Given the description of an element on the screen output the (x, y) to click on. 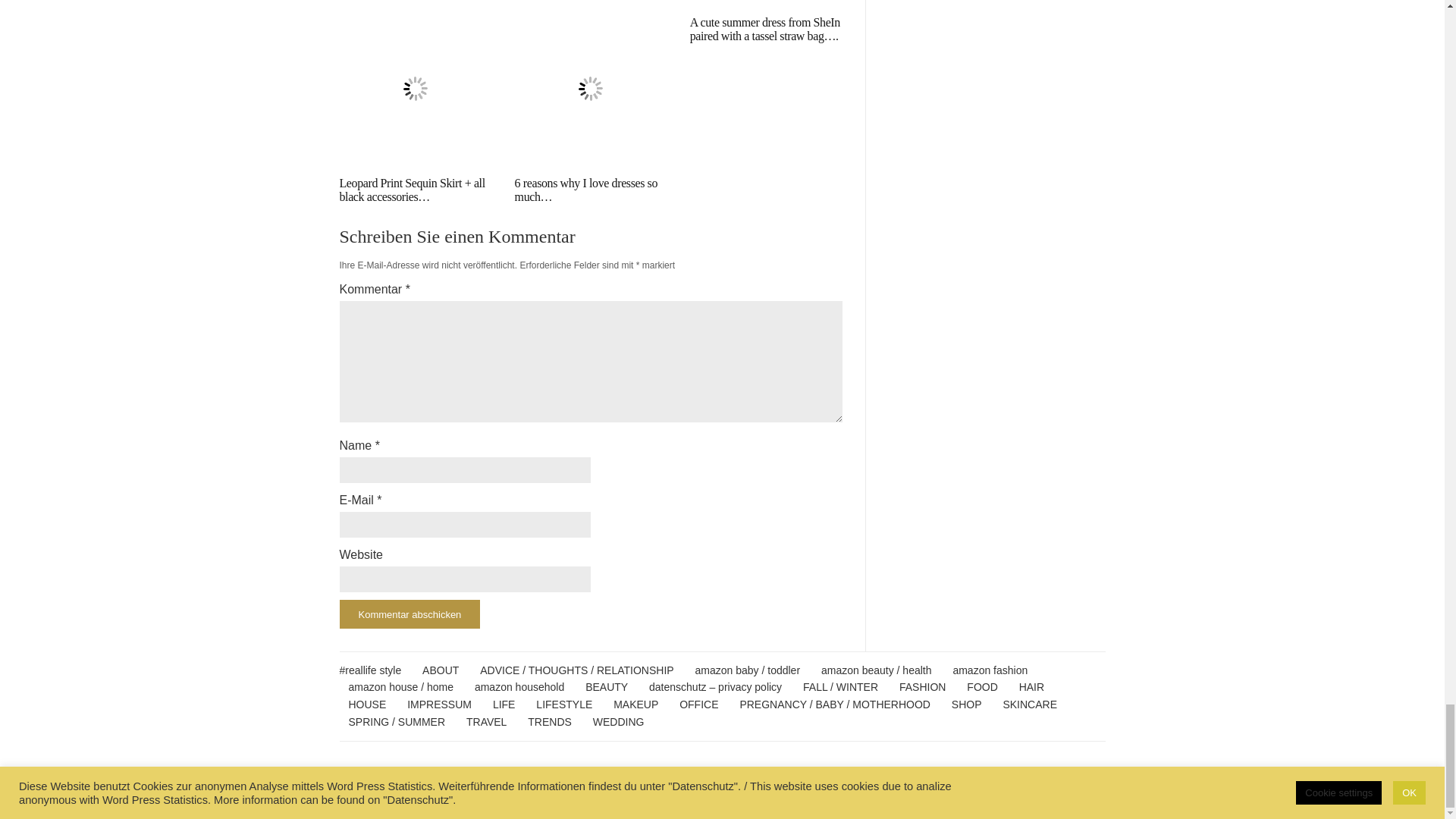
Kommentar abschicken (409, 613)
